Given the description of an element on the screen output the (x, y) to click on. 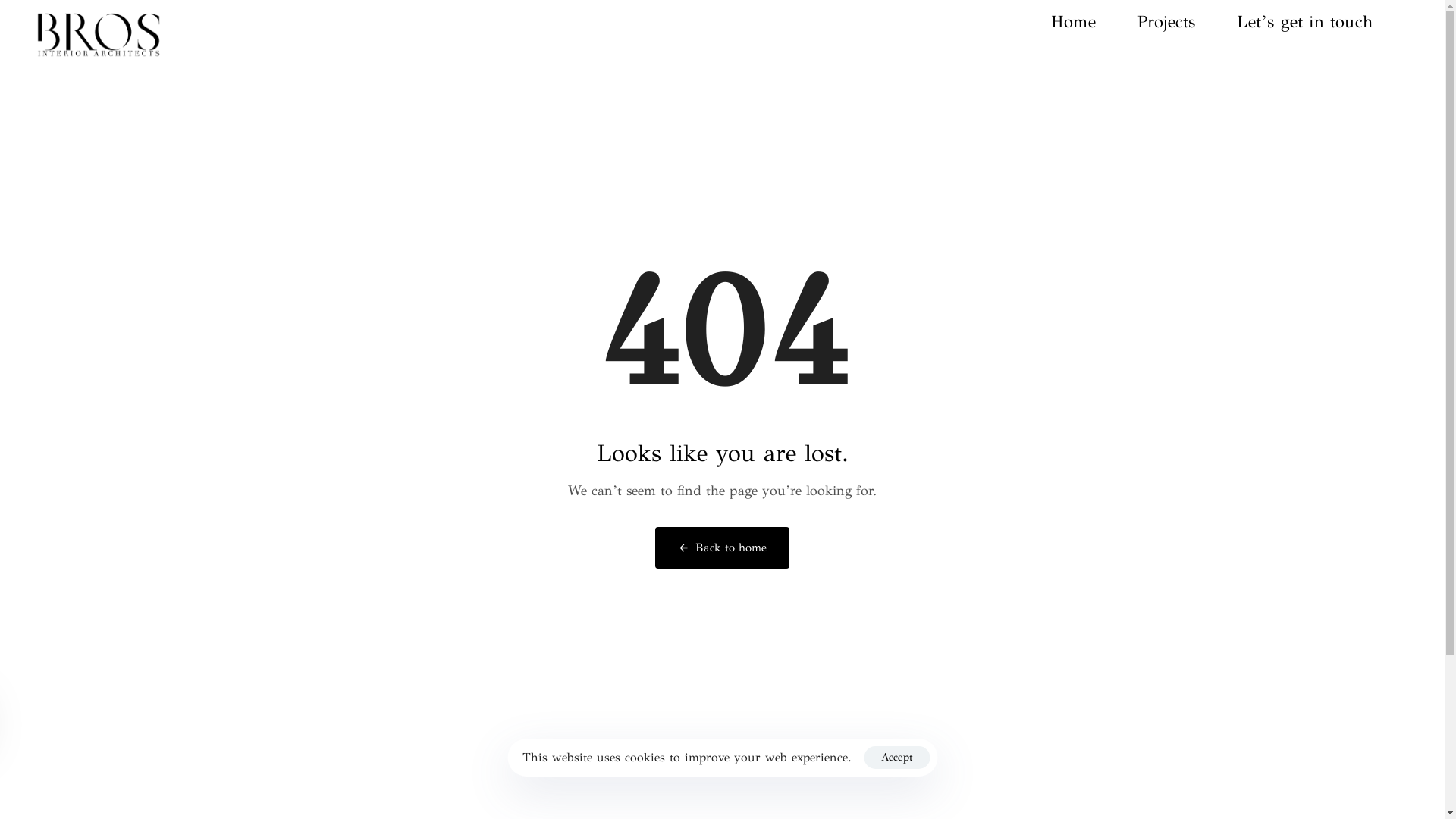
Home Element type: text (1094, 21)
Privacy policy & Cookie policy Element type: text (721, 758)
Accept Element type: text (896, 757)
Back to home Element type: text (722, 548)
BOOK YOUR MEETING HERE Element type: text (722, 699)
Projects Element type: text (1187, 21)
